Given the description of an element on the screen output the (x, y) to click on. 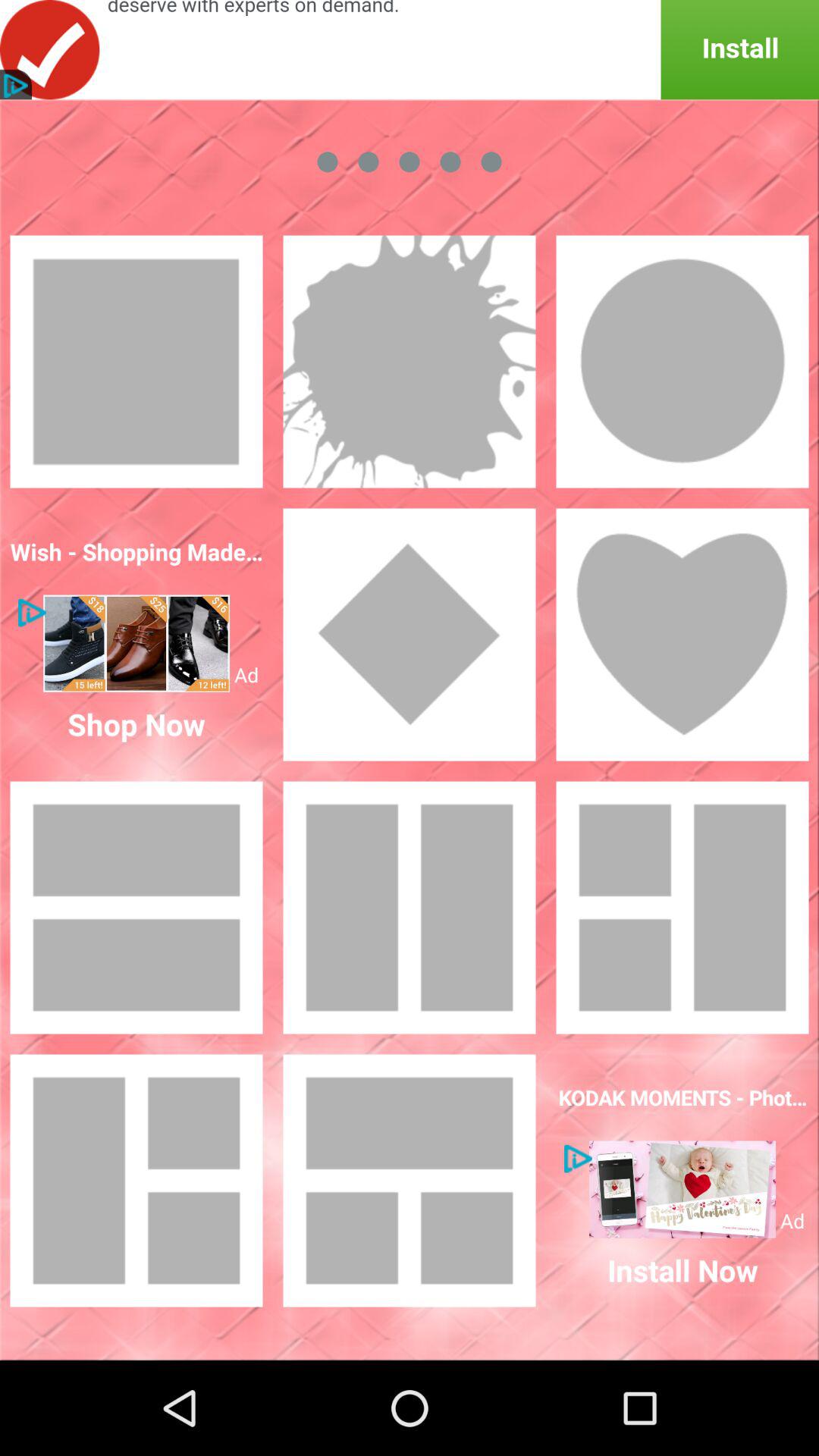
select the square option (136, 361)
